Given the description of an element on the screen output the (x, y) to click on. 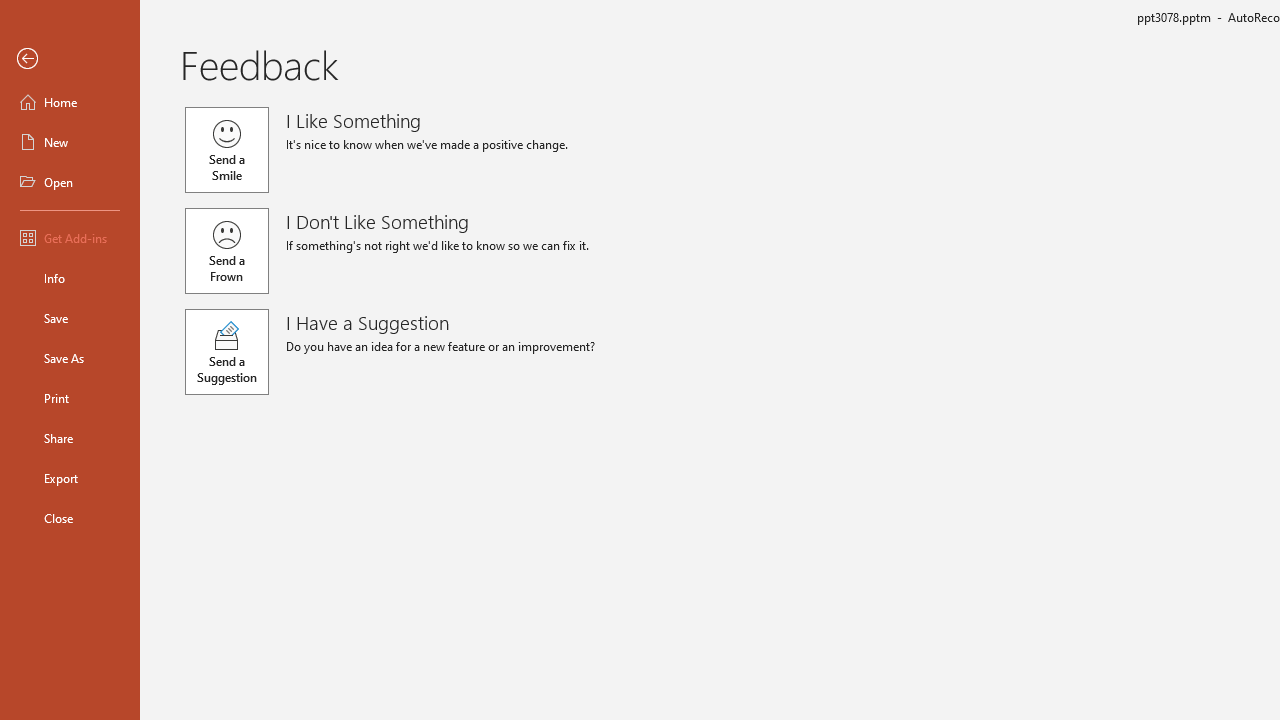
Export (69, 477)
Send a Frown (226, 250)
Save As (69, 357)
New (69, 141)
Send a Smile (226, 149)
Send a Suggestion (226, 351)
Print (69, 398)
Get Add-ins (69, 237)
